Given the description of an element on the screen output the (x, y) to click on. 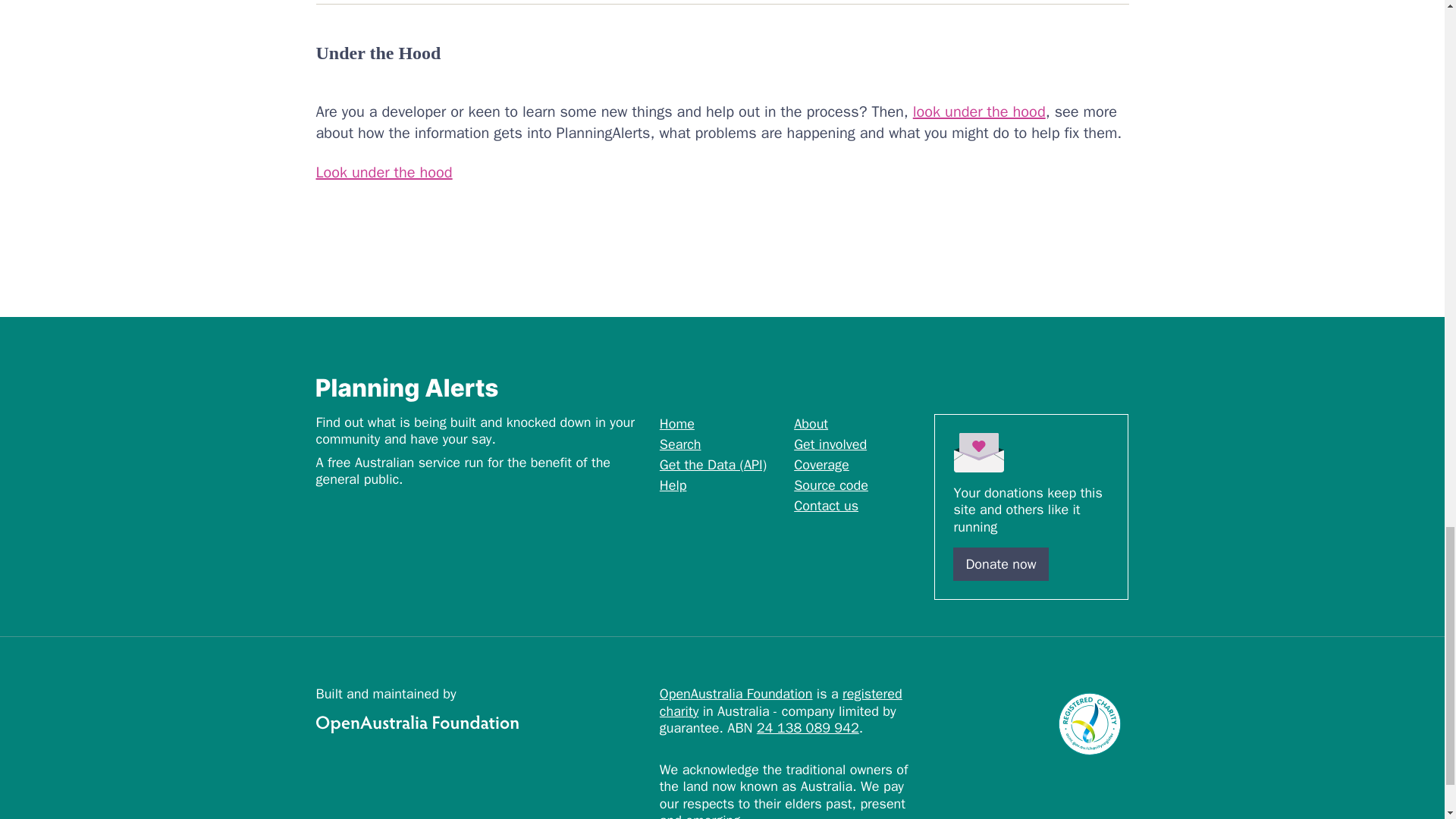
About (810, 423)
Contact us (826, 505)
Source code (830, 484)
OpenAustralia Foundation (480, 723)
OpenAustralia Foundation (735, 693)
Coverage (820, 464)
Search (680, 443)
Home (676, 423)
look under the hood (978, 111)
Look under the hood (383, 171)
Donate now (1000, 563)
Help (673, 484)
Get involved (829, 443)
